Given the description of an element on the screen output the (x, y) to click on. 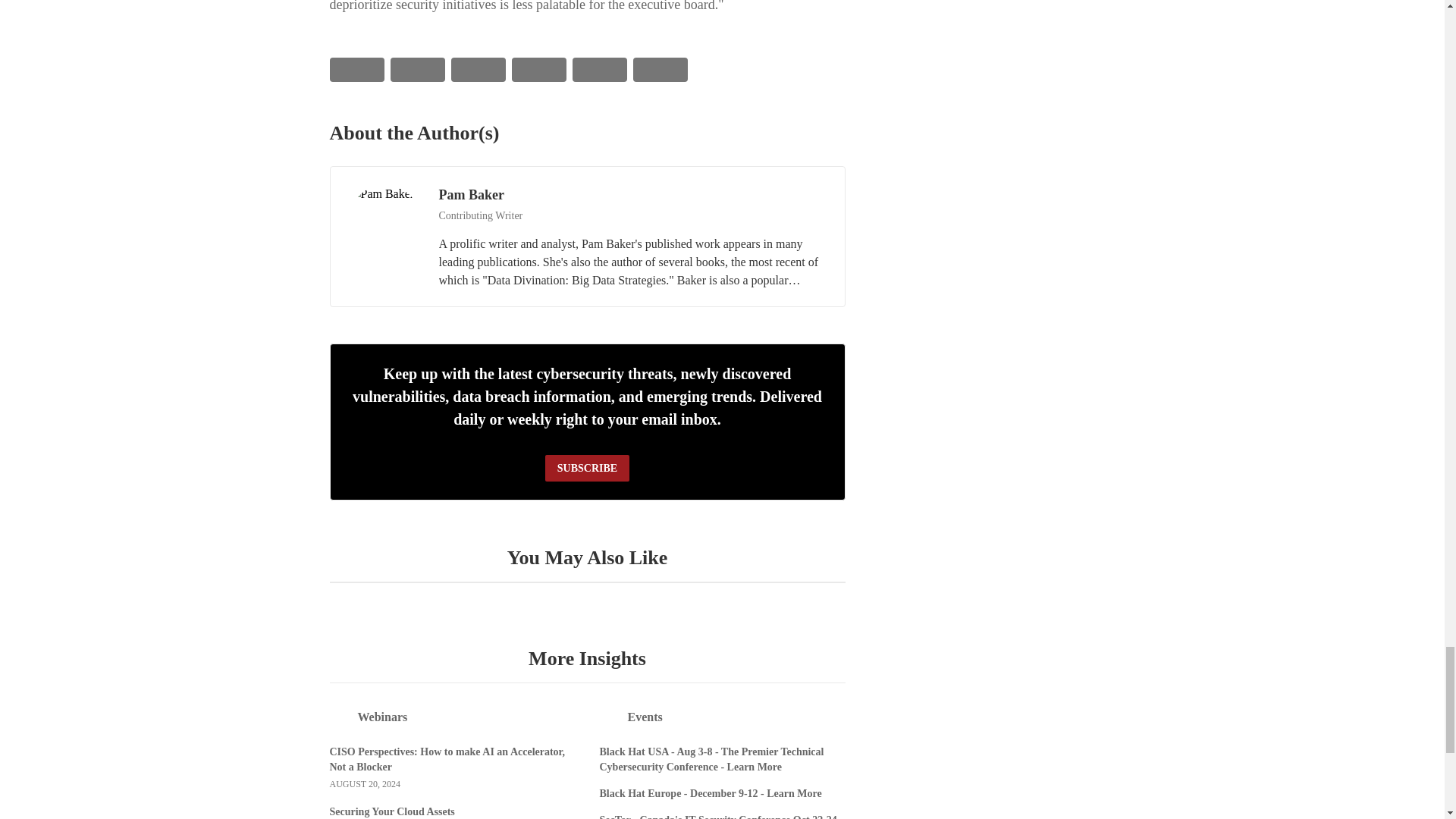
Pam Baker (384, 221)
